Given the description of an element on the screen output the (x, y) to click on. 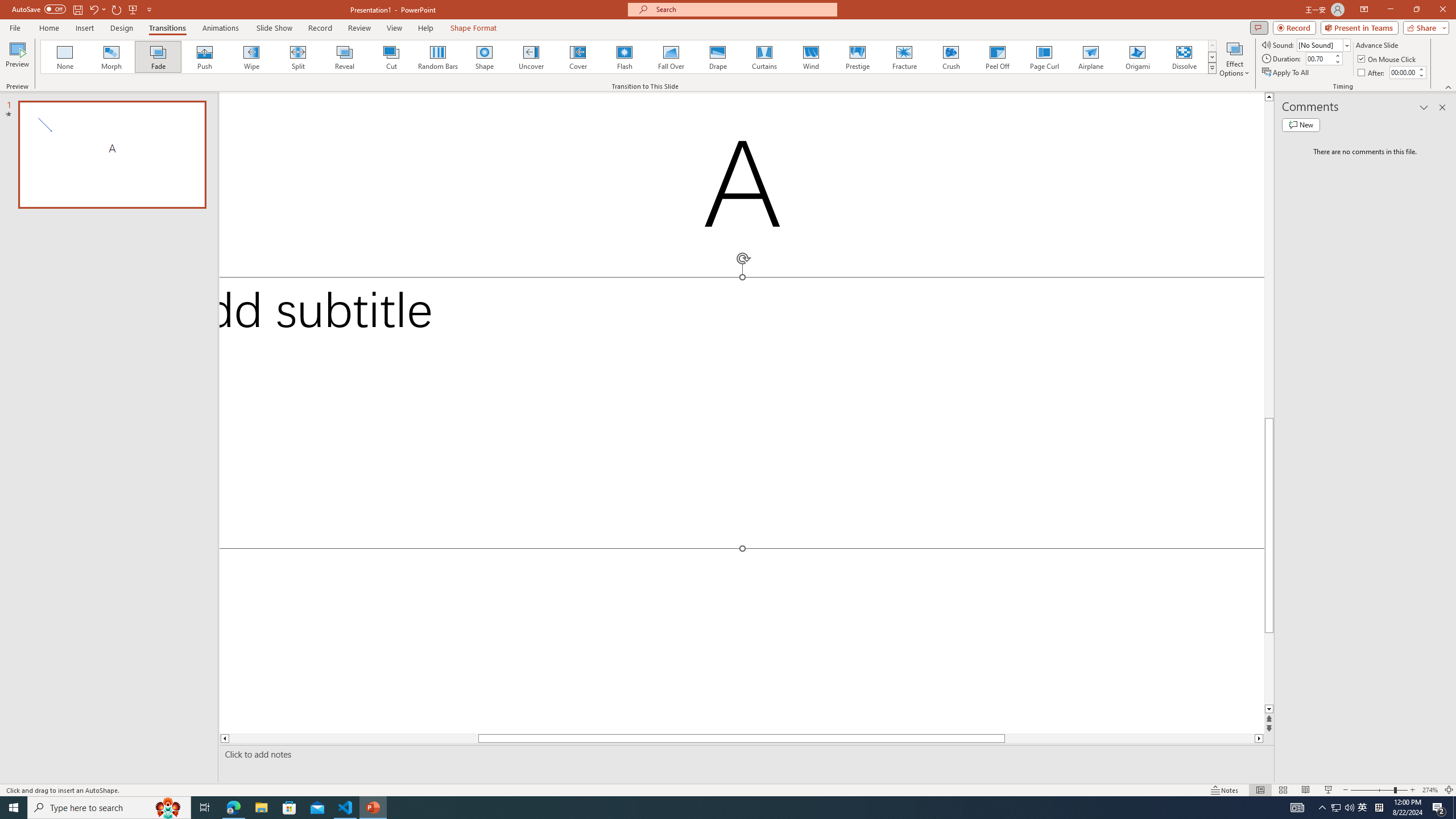
Effect Options (1234, 58)
Origami (1136, 56)
AutomationID: AnimationTransitionGallery (628, 56)
Fracture (903, 56)
